Given the description of an element on the screen output the (x, y) to click on. 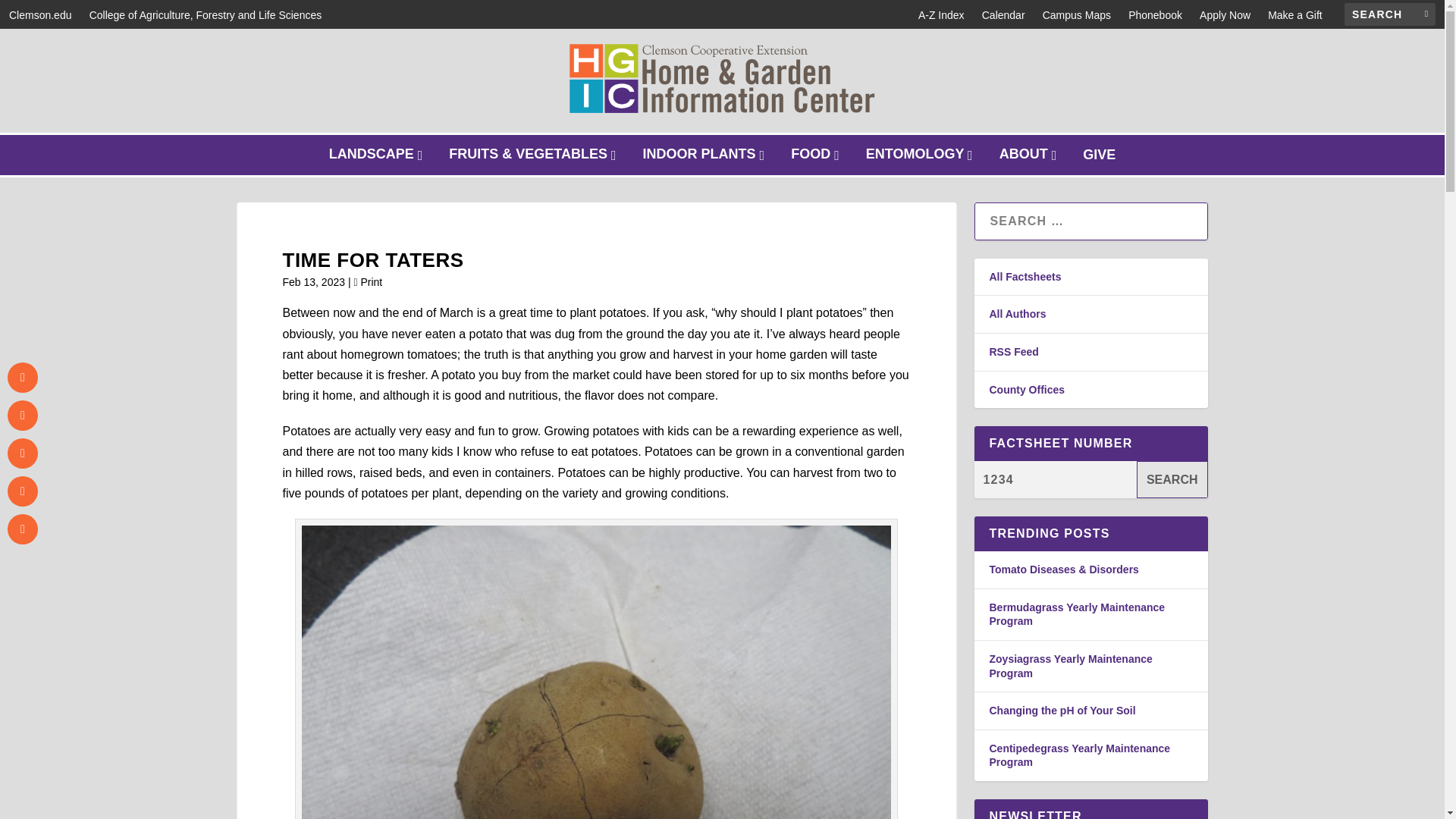
Clemson Admissions Apply Now (1224, 15)
Search for: (1389, 14)
Search (1172, 479)
A-Z Index (940, 15)
Make a Gift (1295, 15)
Clemson.edu (39, 15)
Phonebook (1155, 15)
Search (816, 155)
Apply Now (1172, 479)
Campus Maps (1224, 15)
Clemson.edu Home (1076, 15)
Make a Gift (39, 15)
